Given the description of an element on the screen output the (x, y) to click on. 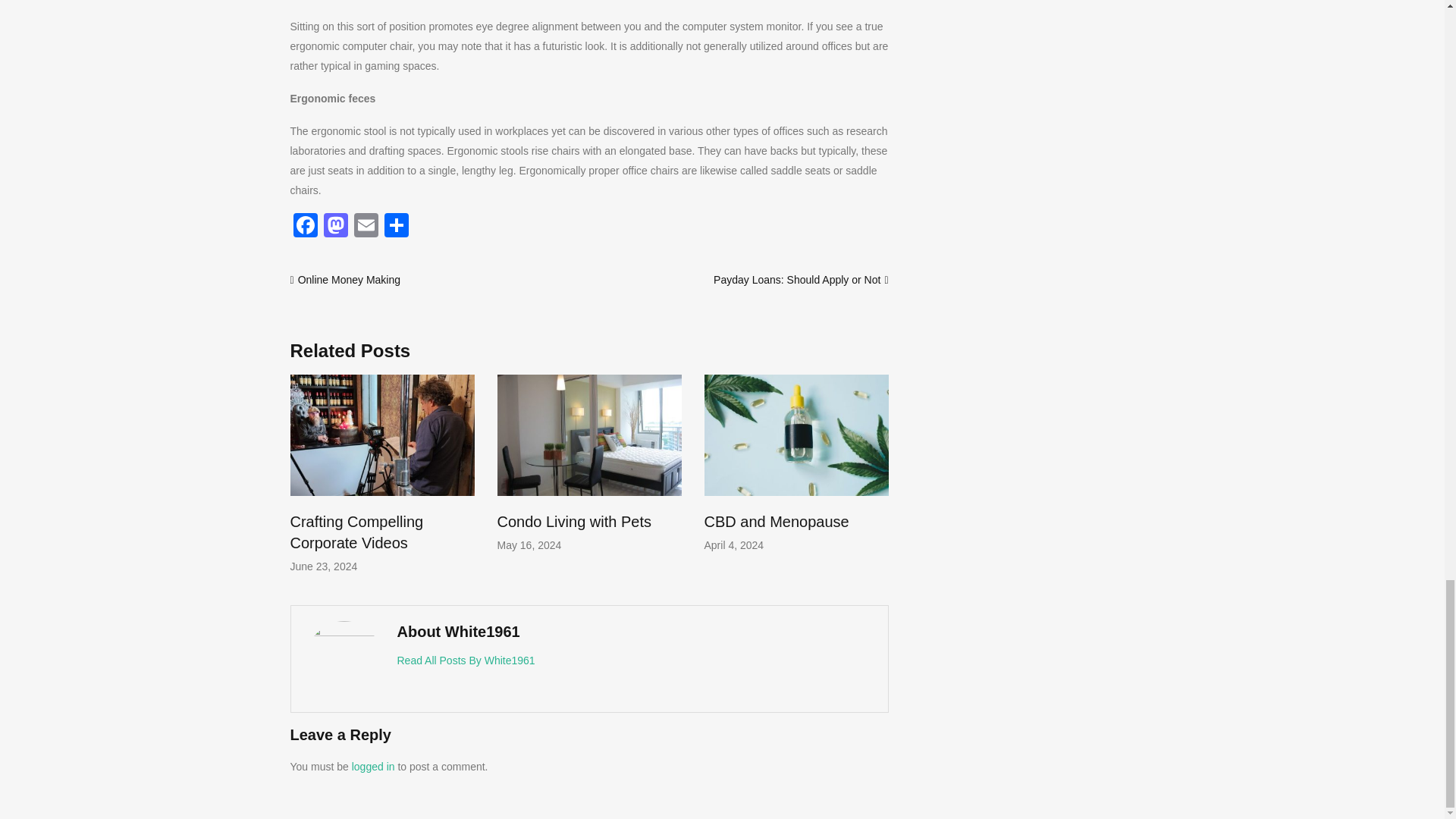
Crafting Compelling Corporate Videos (356, 532)
Condo Living with Pets (573, 521)
Mastodon (335, 226)
Online Money Making (349, 279)
Email (365, 226)
CBD and Menopause (775, 521)
Email (365, 226)
Payday Loans: Should Apply or Not (796, 279)
Mastodon (335, 226)
Facebook (304, 226)
